Given the description of an element on the screen output the (x, y) to click on. 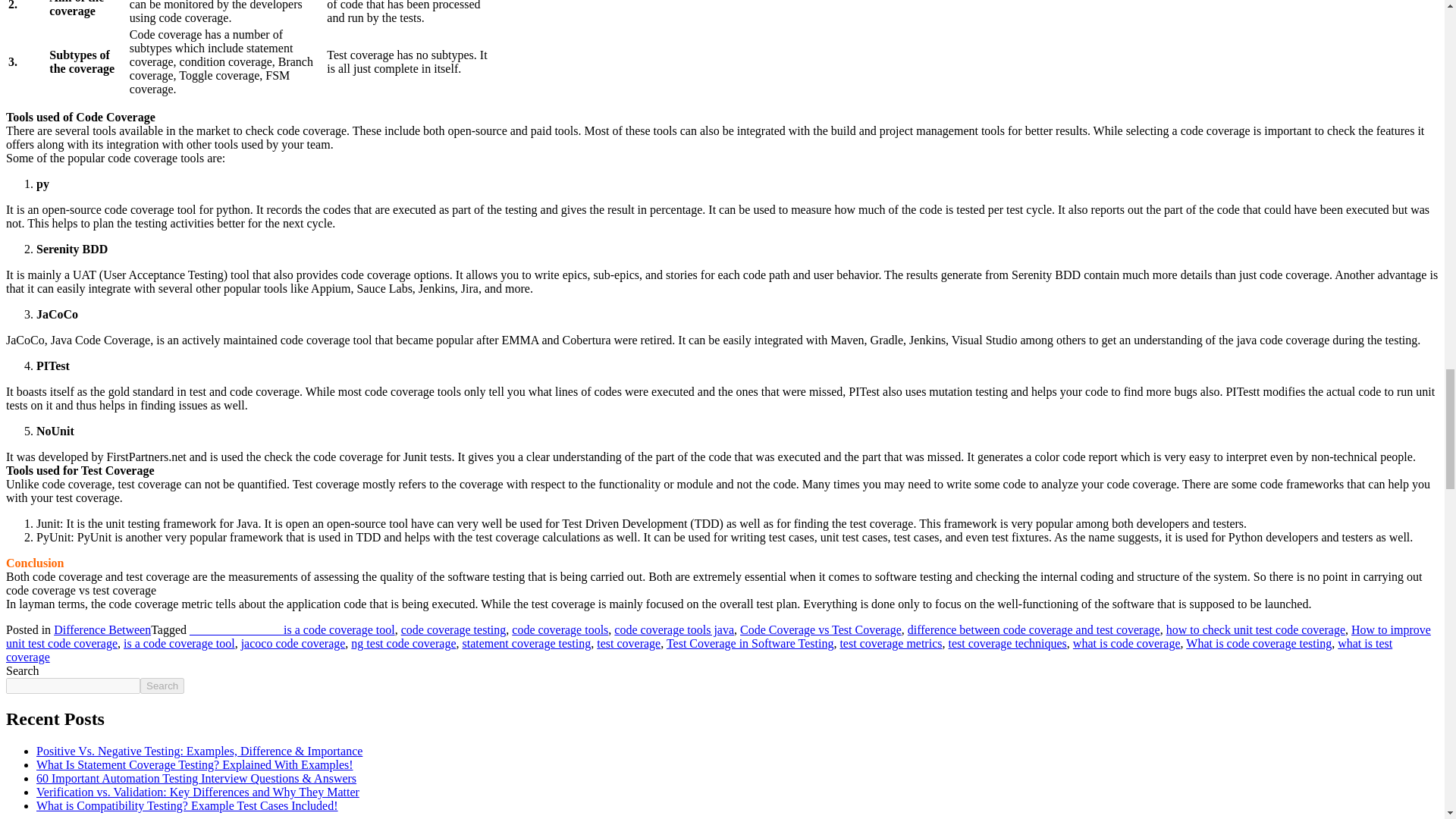
What is Compatibility Testing? Example Test Cases Included! (186, 805)
statement coverage testing (527, 643)
ng test code coverage (402, 643)
How to improve unit test code coverage (718, 636)
What Is Statement Coverage Testing? Explained With Examples! (194, 764)
test coverage metrics (891, 643)
Search (161, 685)
how to check unit test code coverage (1255, 629)
code coverage testing (453, 629)
code coverage tools (560, 629)
what is test coverage (698, 650)
is a code coverage tool (178, 643)
What is code coverage testing (1259, 643)
difference between code coverage and test coverage (1033, 629)
jacoco code coverage (293, 643)
